Given the description of an element on the screen output the (x, y) to click on. 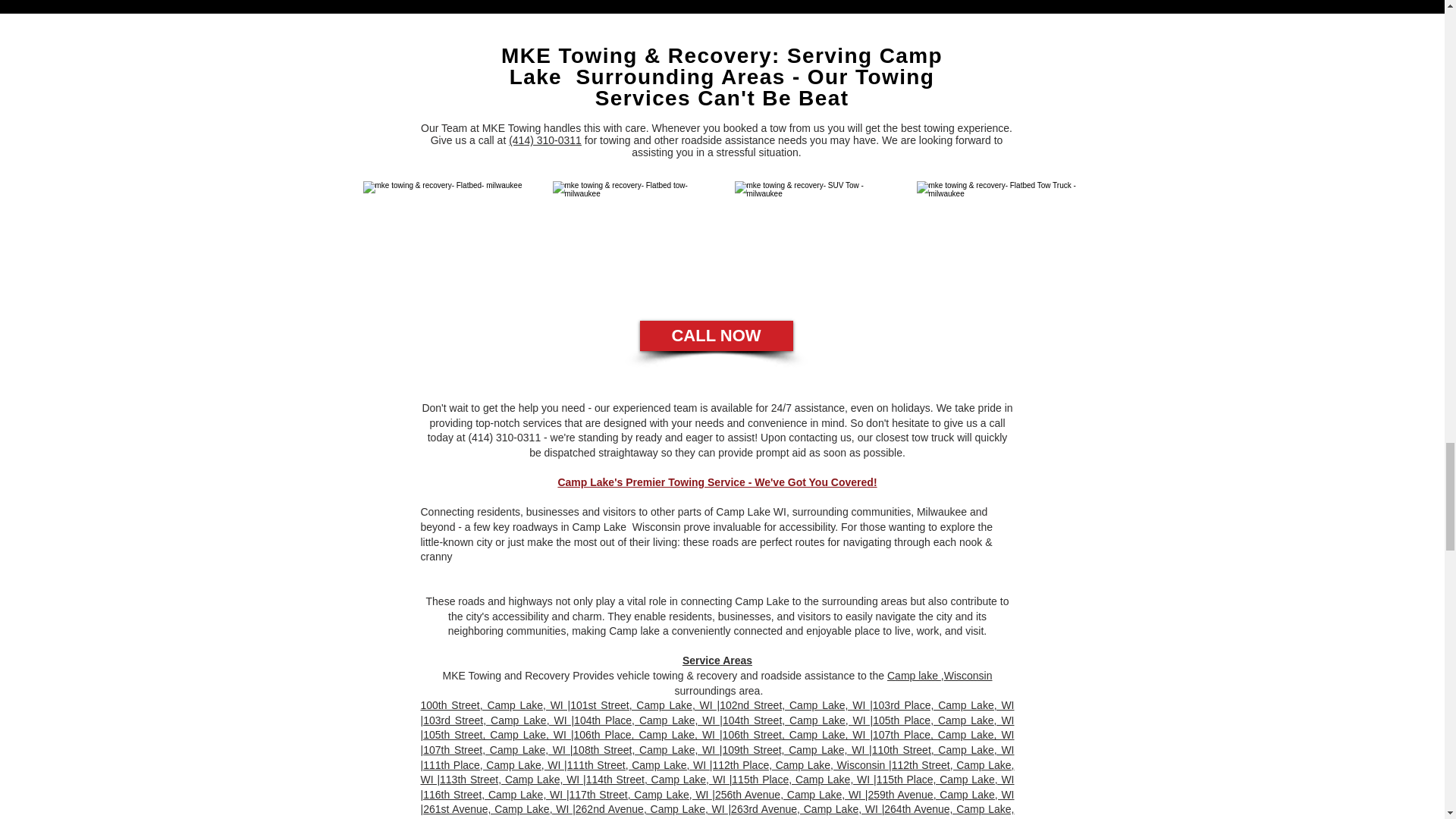
CALL NOW (716, 336)
Service Areas (717, 660)
towing services near me  (998, 235)
Camp lake ,Wisconsin (939, 675)
Camp Lake's Premier Towing Service - We've Got You Covered! (716, 481)
